Given the description of an element on the screen output the (x, y) to click on. 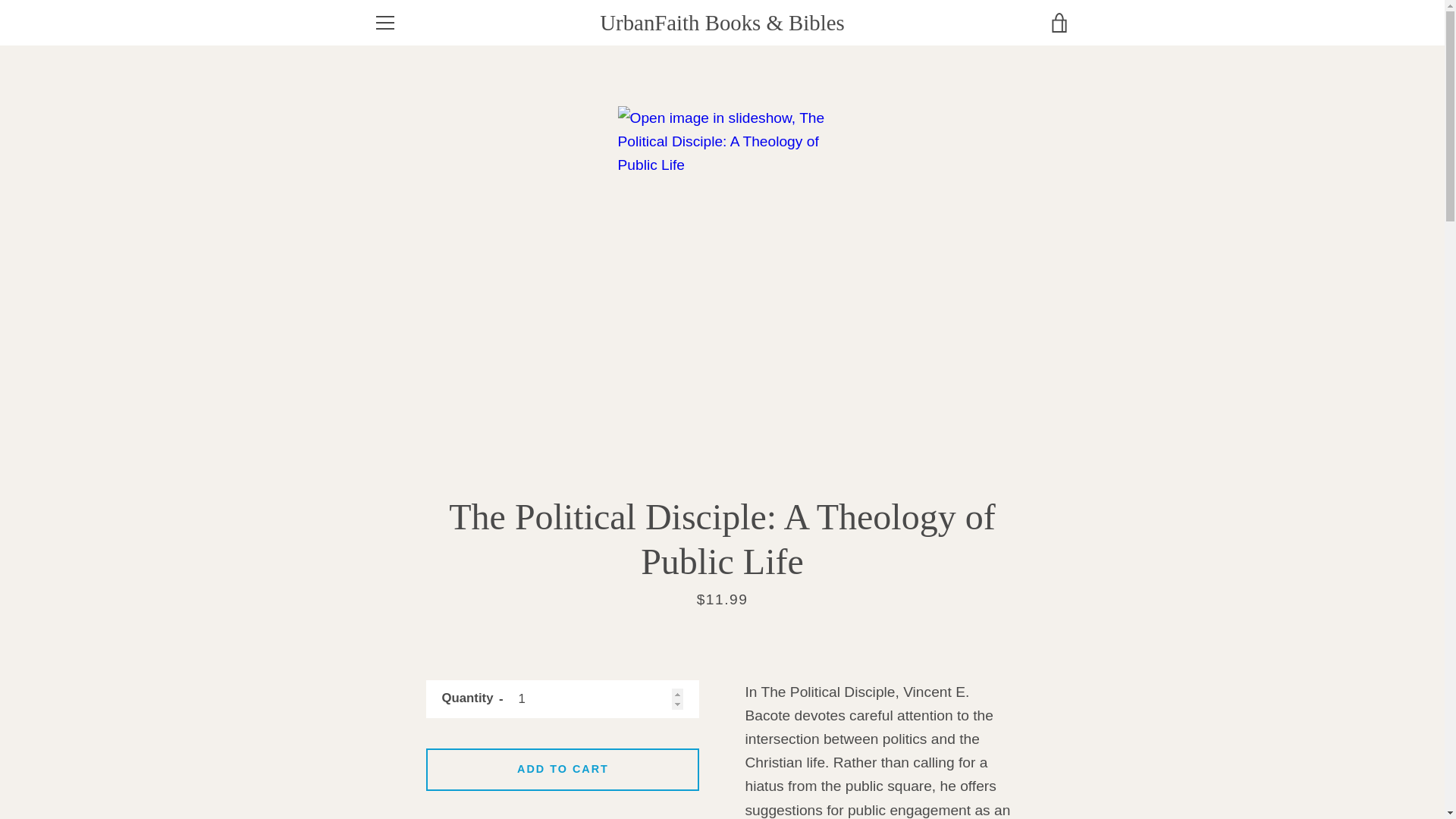
Diners Club (953, 754)
Mastercard (988, 778)
Google Pay (1057, 754)
Shop Pay (1022, 778)
Discover (988, 754)
Visa (1057, 778)
ADD TO CART (562, 769)
1 (562, 699)
VIEW CART (1059, 22)
Apple Pay (918, 754)
Meta Pay (1022, 754)
American Express (883, 754)
MENU (384, 22)
